Given the description of an element on the screen output the (x, y) to click on. 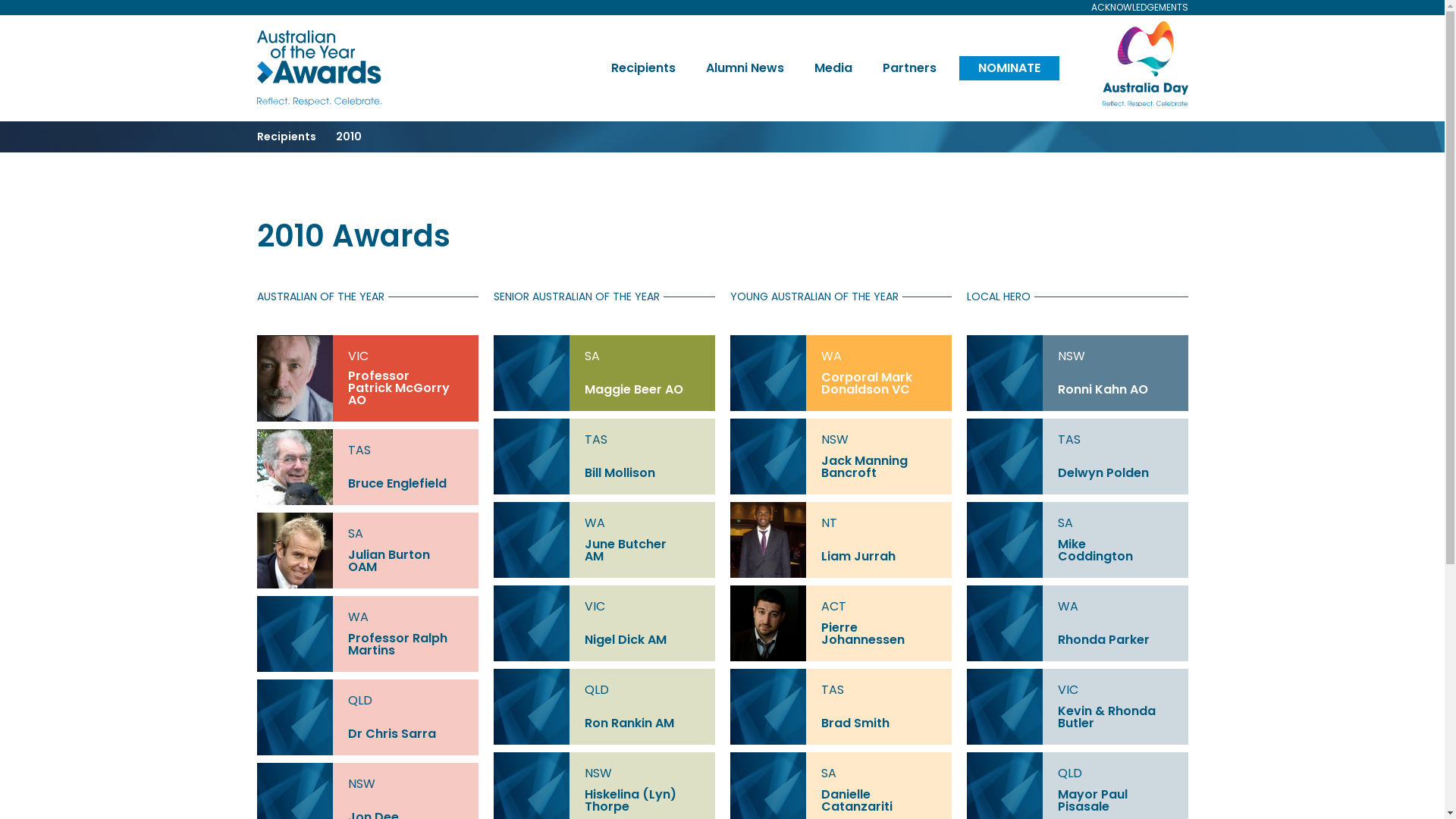
Ron Rankin AM Element type: text (641, 723)
Recipients Element type: text (643, 68)
Delwyn Polden Element type: text (1114, 473)
Julian Burton OAM Element type: text (404, 561)
Rhonda Parker Element type: text (1114, 639)
Kevin & Rhonda Butler Element type: text (1114, 717)
Pierre Johannessen Element type: text (877, 633)
NOMINATE Element type: text (1008, 68)
Brad Smith Element type: text (877, 723)
Media Element type: text (833, 68)
Partners Element type: text (909, 68)
Bill Mollison Element type: text (641, 473)
Mayor Paul Pisasale Element type: text (1114, 800)
Nigel Dick AM Element type: text (641, 639)
Mike Coddington Element type: text (1114, 550)
Visit Australia Day Website Element type: hover (1122, 63)
Danielle Catanzariti Element type: text (877, 800)
Alumni News Element type: text (744, 68)
Recipients Element type: text (295, 136)
Corporal Mark Donaldson VC Element type: text (877, 383)
Professor Patrick McGorry AO Element type: text (404, 388)
Dr Chris Sarra Element type: text (404, 734)
June Butcher AM Element type: text (641, 550)
Professor Ralph Martins Element type: text (404, 644)
ACKNOWLEDGEMENTS Element type: text (1131, 7)
Hiskelina (Lyn) Thorpe Element type: text (641, 800)
Maggie Beer AO Element type: text (641, 389)
Jack Manning Bancroft Element type: text (877, 467)
Skip to main content Element type: text (0, 0)
Liam Jurrah Element type: text (877, 556)
Australian of the Year Element type: hover (320, 68)
Bruce Englefield Element type: text (404, 483)
Ronni Kahn AO Element type: text (1114, 389)
